Given the description of an element on the screen output the (x, y) to click on. 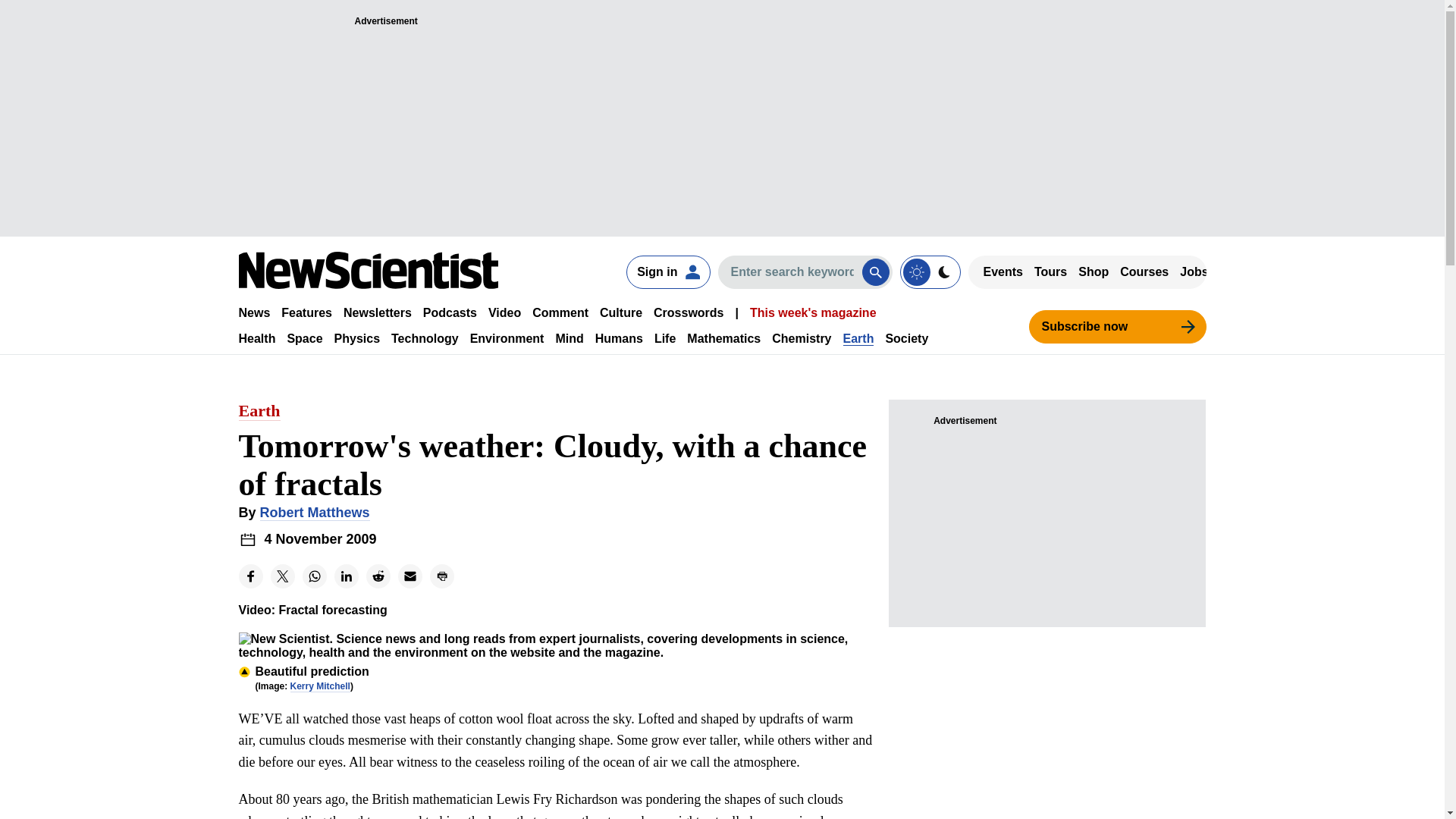
Newsletters (377, 313)
Sign In page link (668, 272)
Shop (1093, 272)
Life (664, 338)
Podcasts (450, 313)
Mathematics (723, 338)
Humans (619, 338)
Sign in (668, 272)
Space (303, 338)
Mind (568, 338)
